Given the description of an element on the screen output the (x, y) to click on. 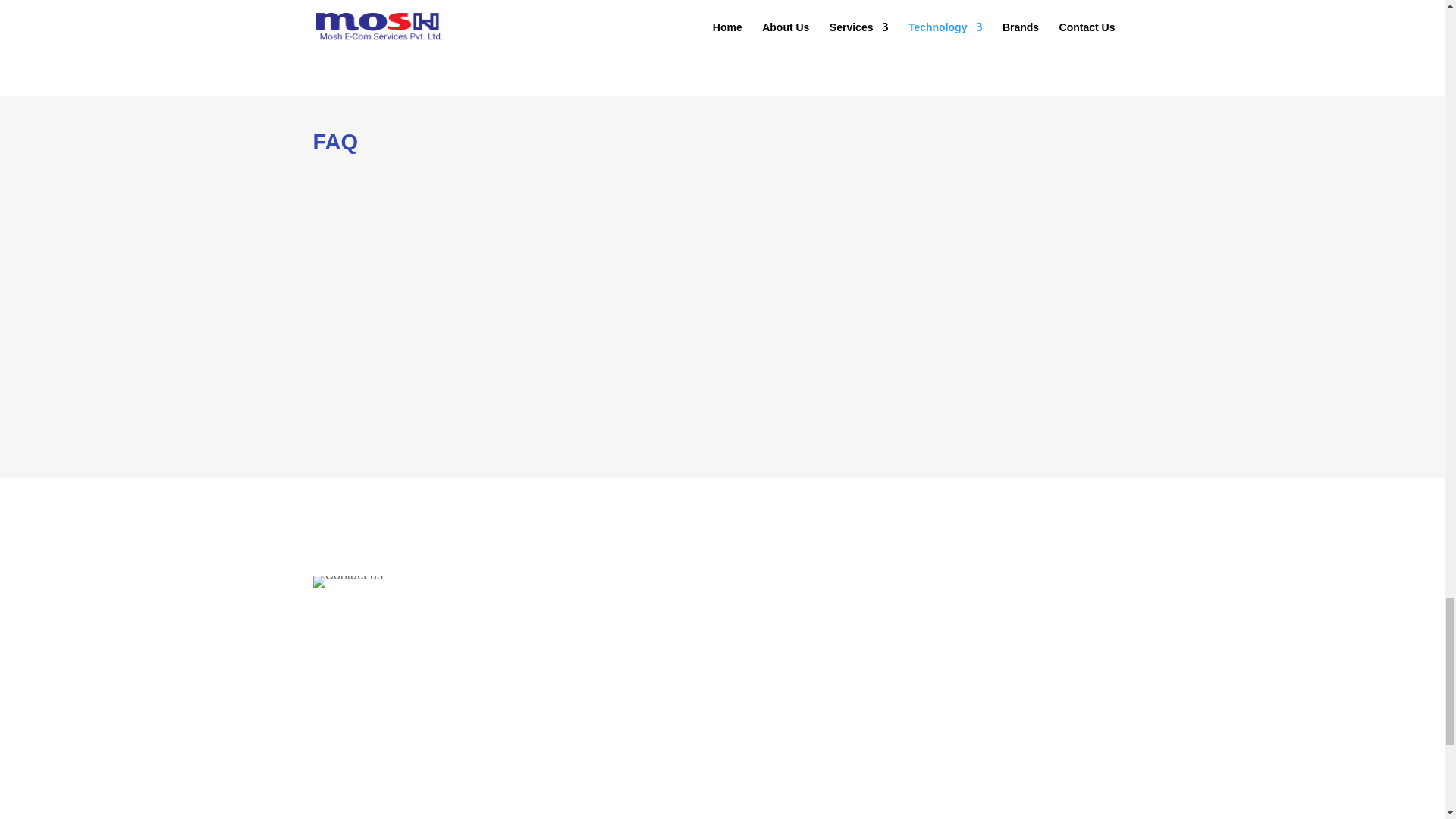
Contact us (347, 581)
